Given the description of an element on the screen output the (x, y) to click on. 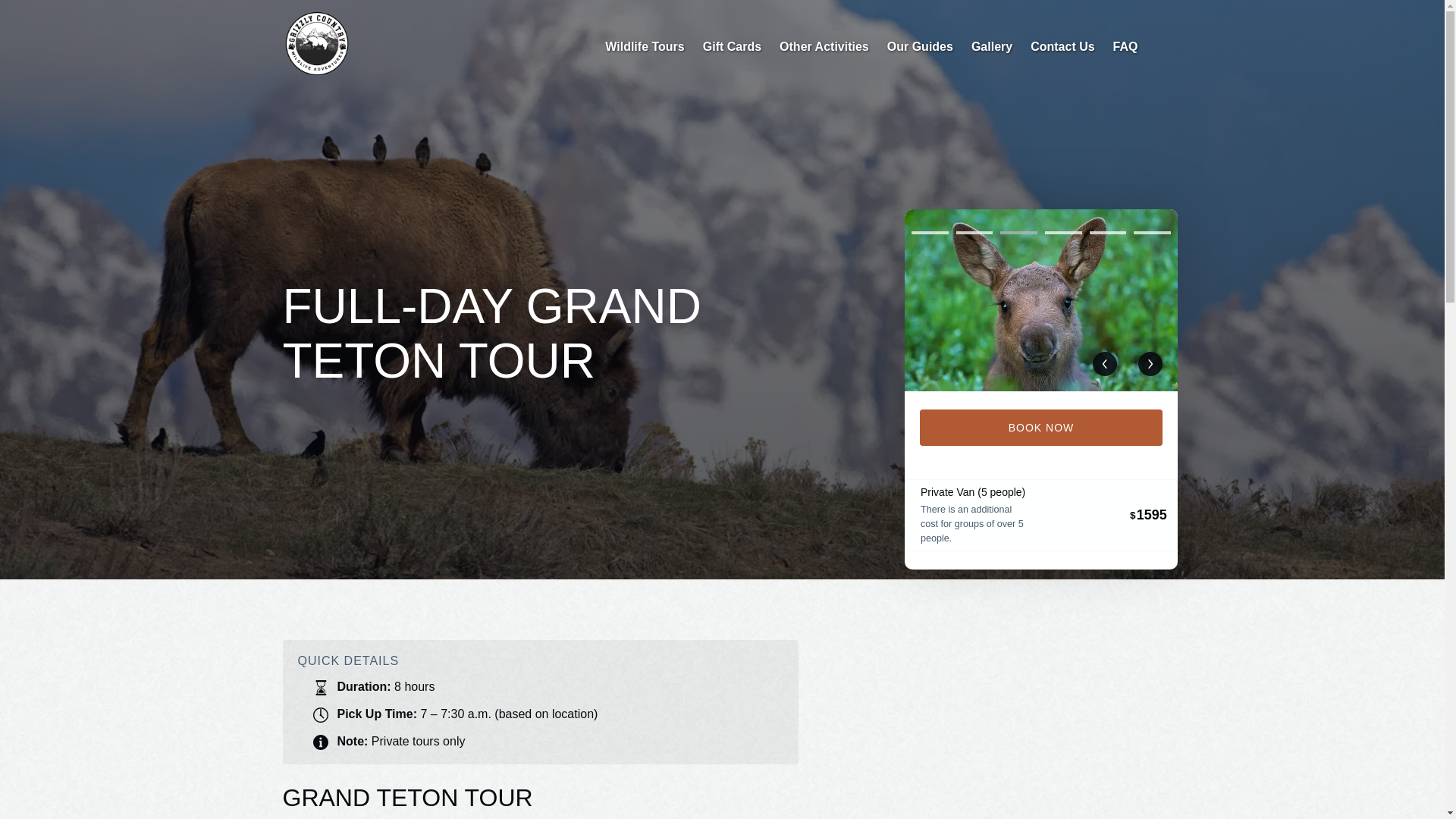
Skip to primary navigation (77, 16)
Wildlife Tours (644, 46)
Clock (320, 714)
Skip to content (47, 16)
1 (930, 232)
Next (1149, 363)
Previous (1104, 363)
4 (1063, 232)
6 (1152, 232)
2 (973, 232)
Hour Glass (320, 687)
3 (1018, 232)
Other Activities (823, 46)
Gift Cards (732, 46)
5 (1107, 232)
